Given the description of an element on the screen output the (x, y) to click on. 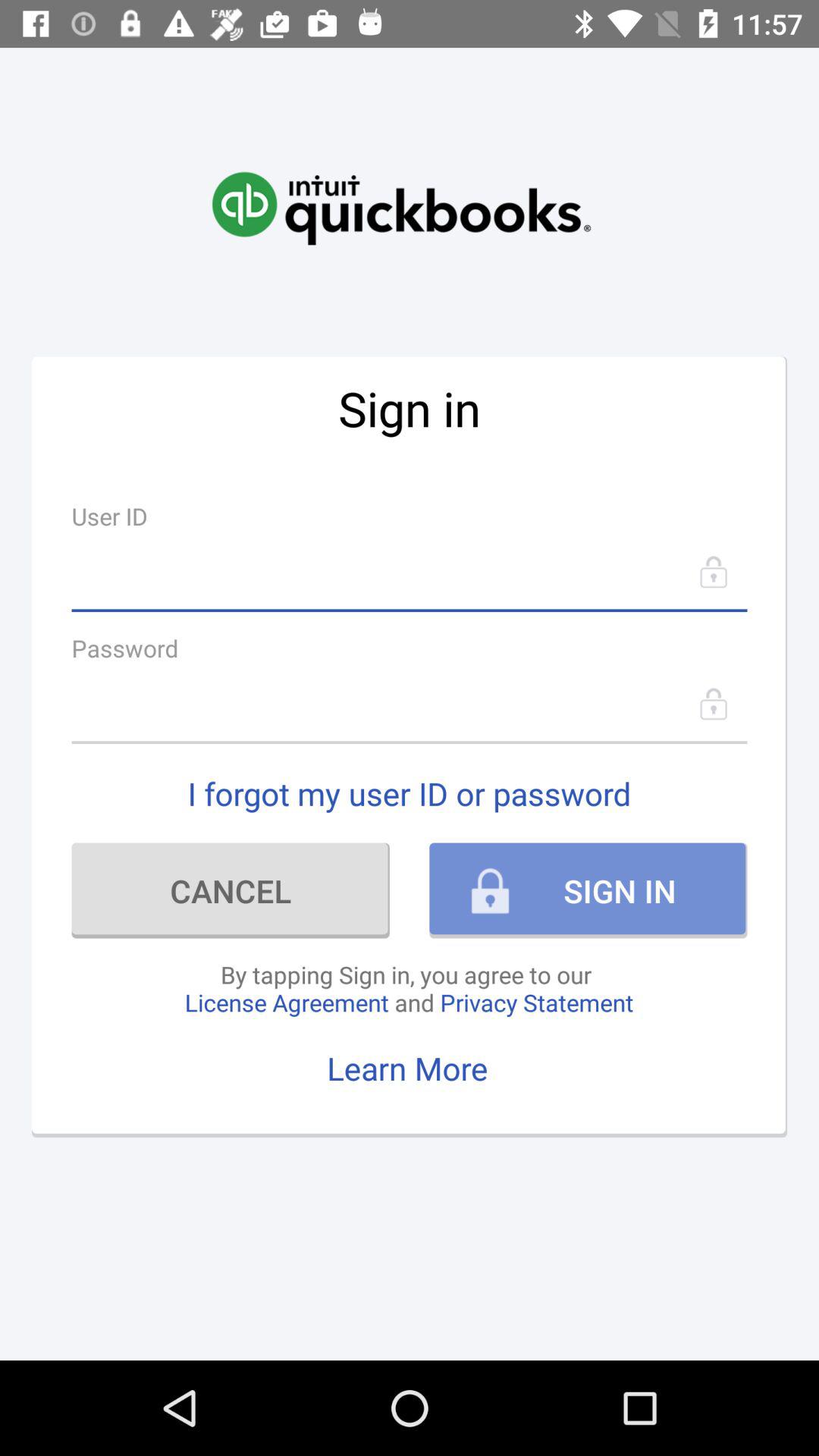
enter user id (409, 571)
